Given the description of an element on the screen output the (x, y) to click on. 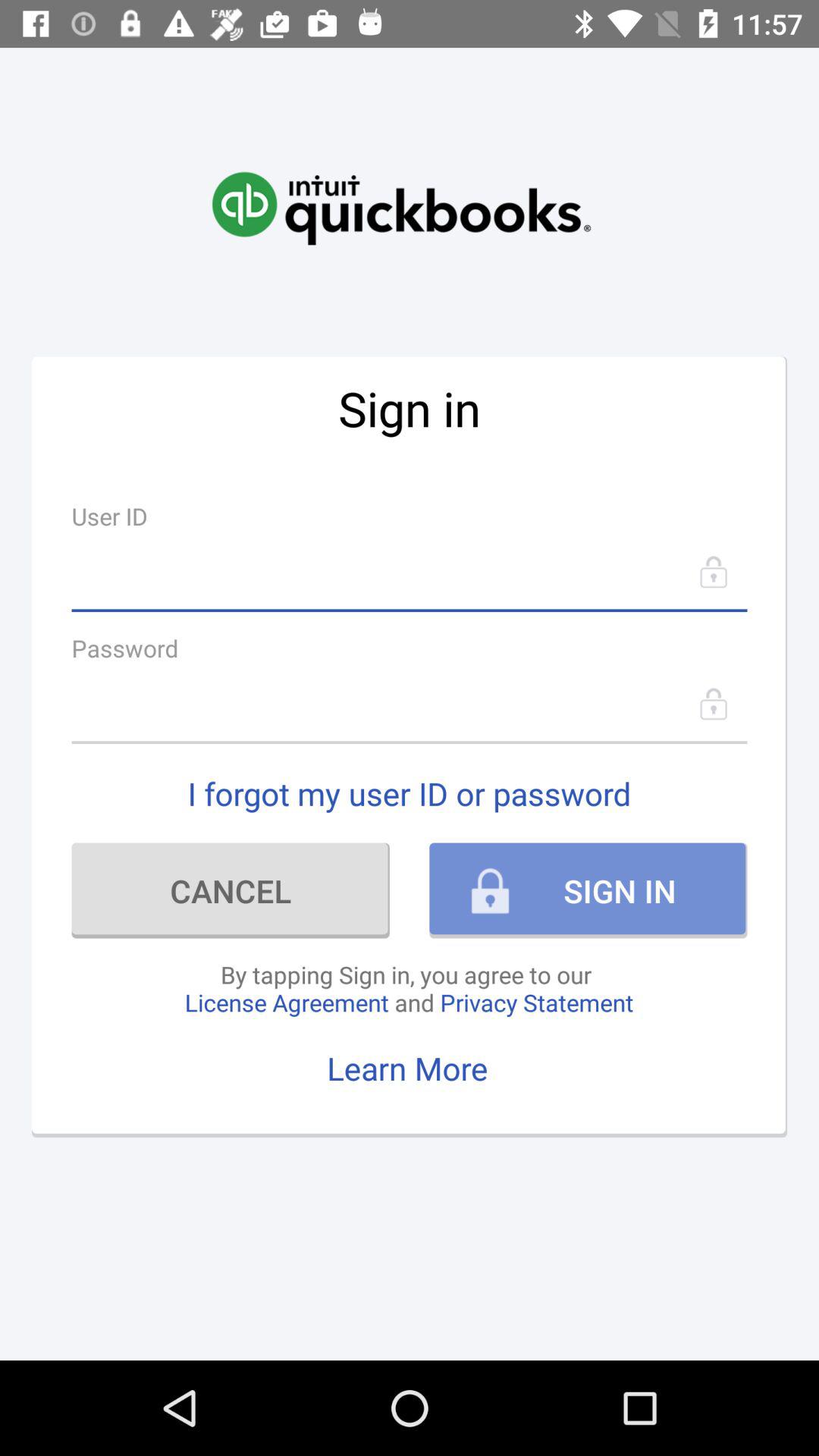
enter user id (409, 571)
